Given the description of an element on the screen output the (x, y) to click on. 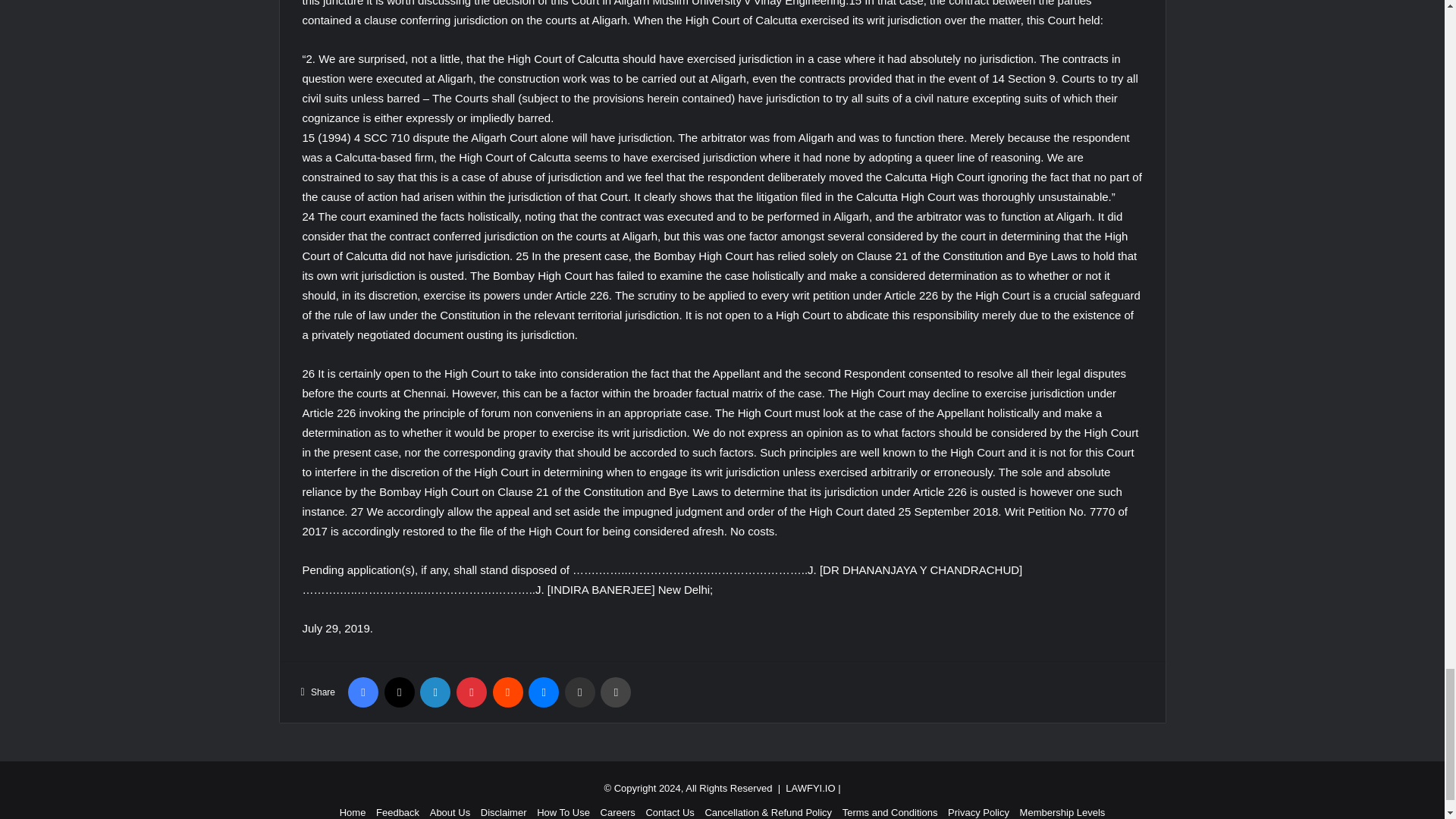
Facebook (362, 692)
Print (614, 692)
LinkedIn (434, 692)
Reddit (507, 692)
Reddit (507, 692)
X (399, 692)
X (399, 692)
Pinterest (471, 692)
Pinterest (471, 692)
LinkedIn (434, 692)
